Given the description of an element on the screen output the (x, y) to click on. 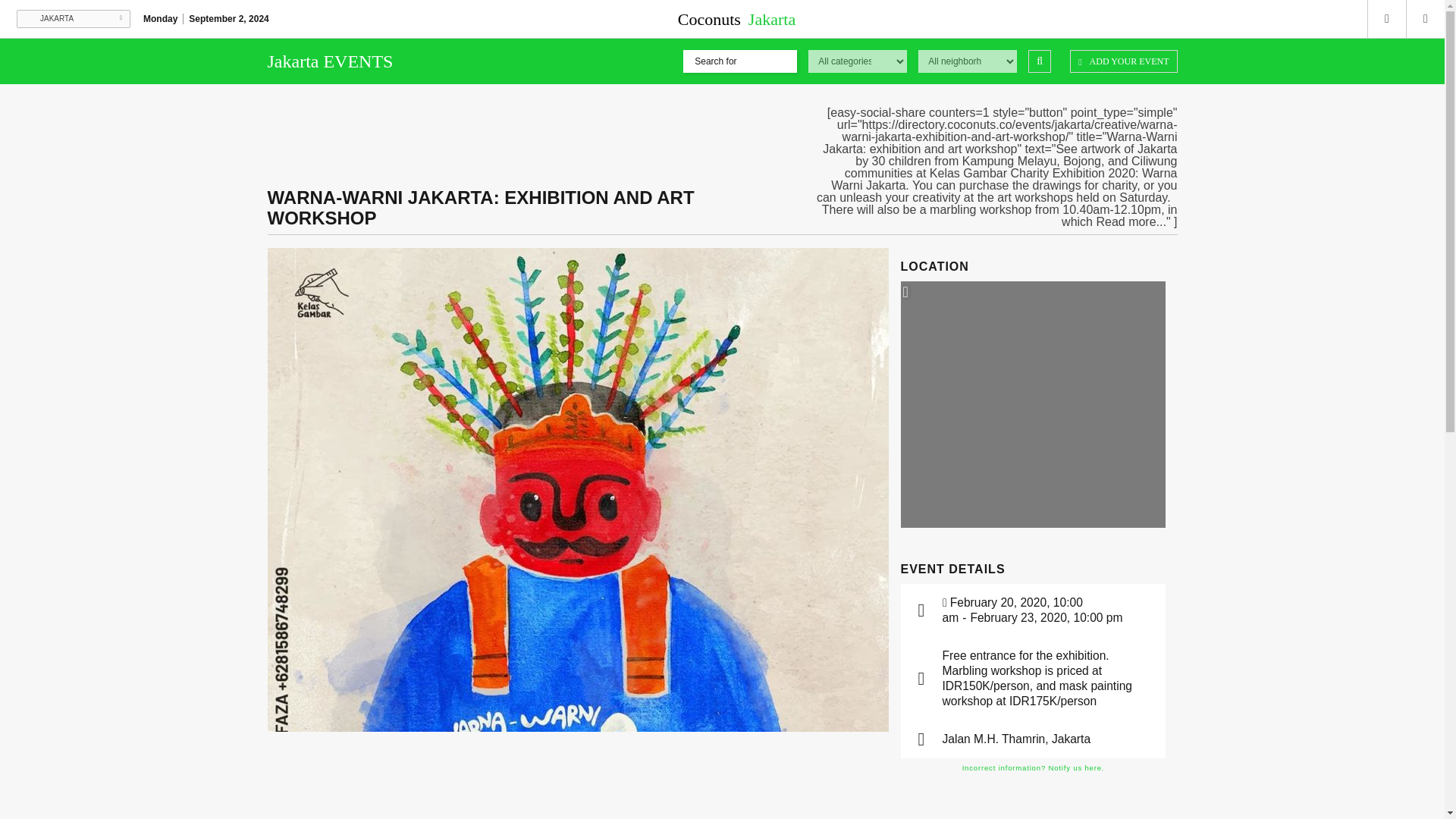
REPORT MISTAKE (1033, 768)
Jakarta EVENTS (329, 62)
Jalan M.H. Thamrin, Jakarta (1016, 738)
SearchSearch (1039, 60)
Add your listing (1123, 60)
Jalan M.H. Thamrin, Jakarta (1016, 738)
Incorrect information? Notify us here. (1033, 768)
Coconuts (721, 18)
ADD YOUR EVENT (1123, 60)
JAKARTA (73, 18)
